Given the description of an element on the screen output the (x, y) to click on. 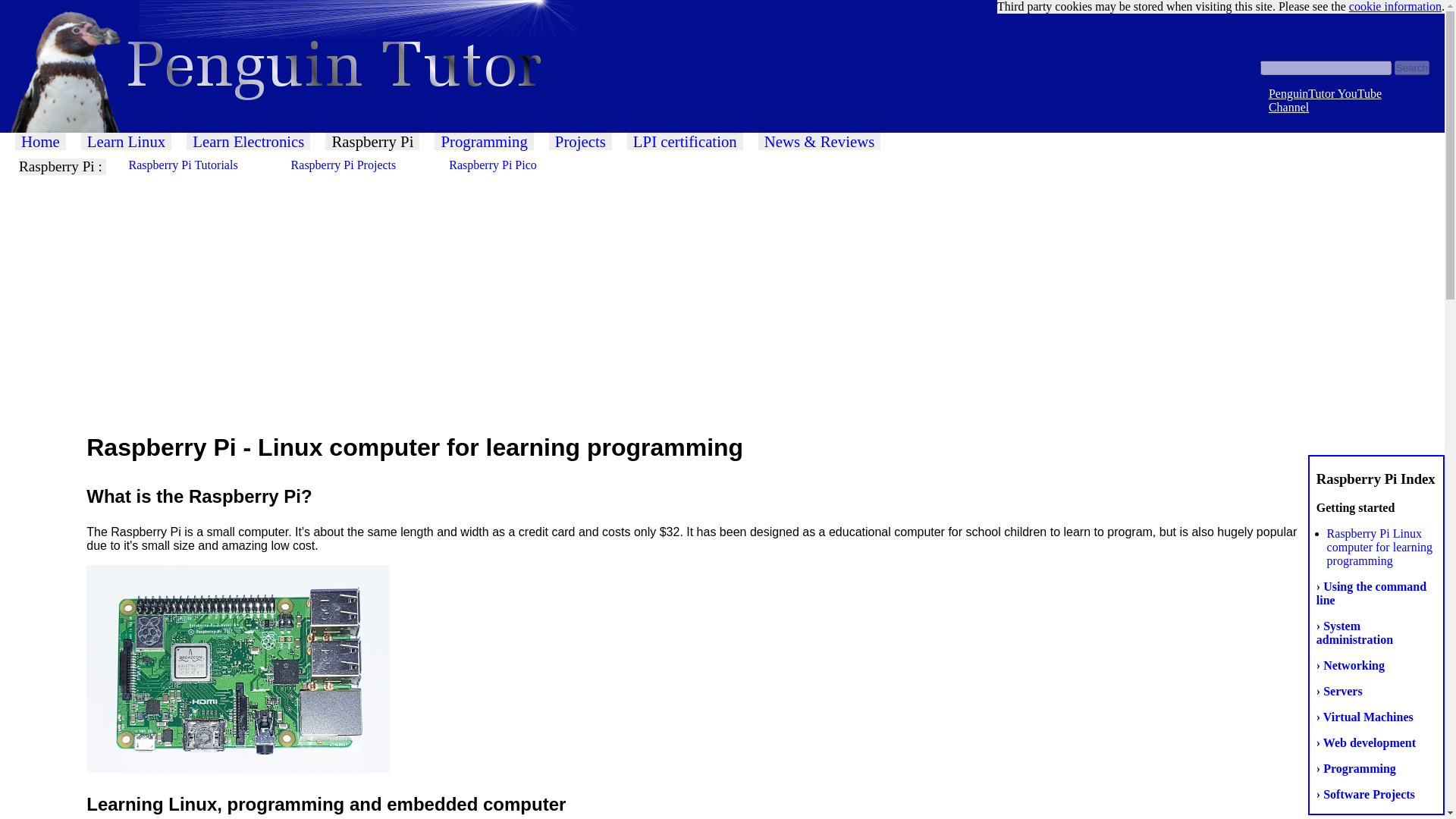
PenguinTutor YouTube Channel (1324, 99)
Search (1411, 67)
Raspberry Pi Projects (347, 164)
Raspberry Pi Tutorials (186, 164)
Learn Electronics (248, 140)
Projects (579, 140)
Programming (482, 140)
Learn Linux (126, 140)
Home (39, 140)
Raspberry Pi Linux computer for learning programming (1379, 547)
Raspberry Pi Pico (496, 164)
Raspberry Pi (371, 140)
Search (1411, 67)
LPI certification (684, 140)
